Given the description of an element on the screen output the (x, y) to click on. 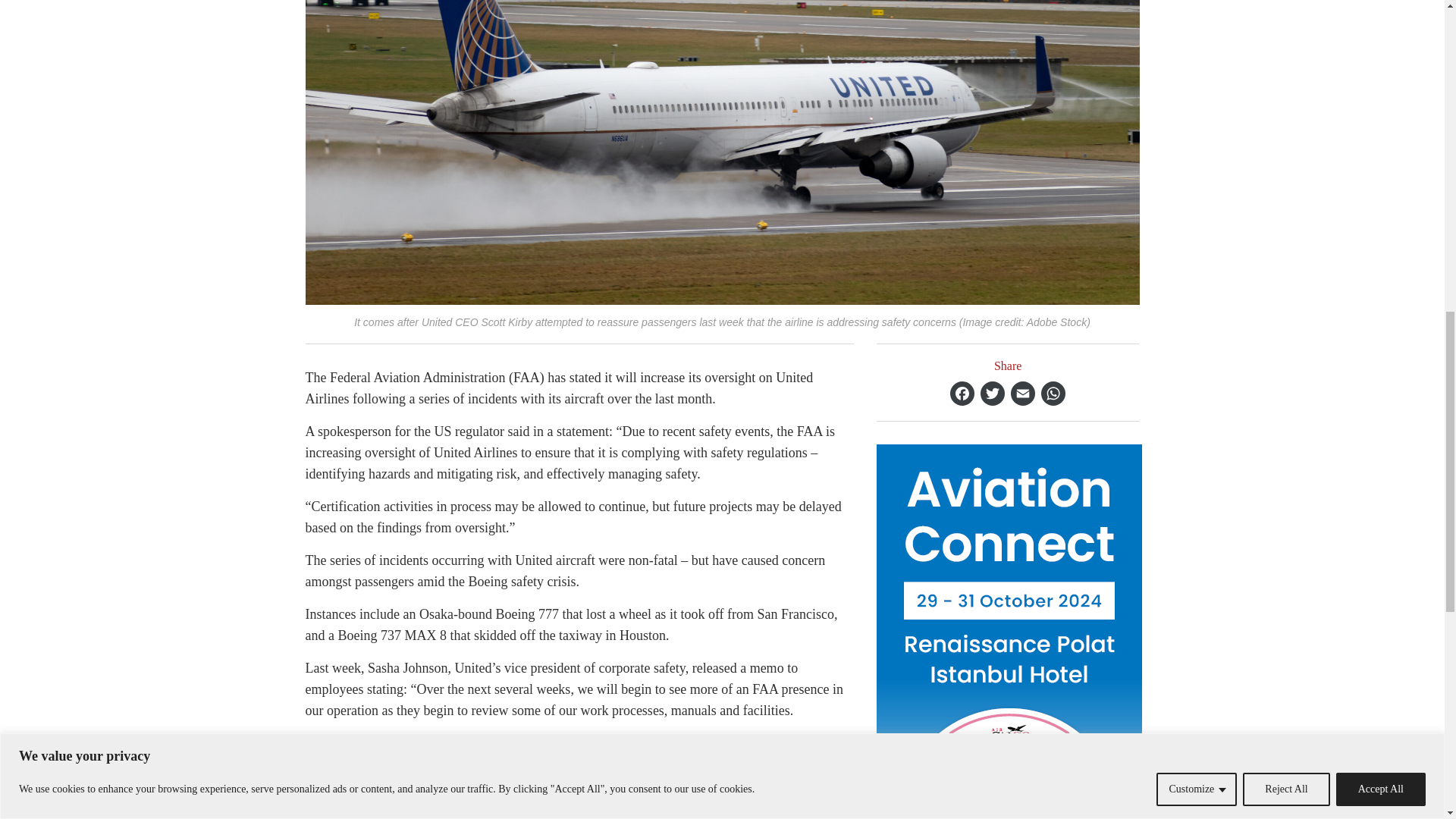
WhatsApp (1053, 393)
Facebook (961, 393)
Email (1022, 393)
Twitter (991, 393)
